Given the description of an element on the screen output the (x, y) to click on. 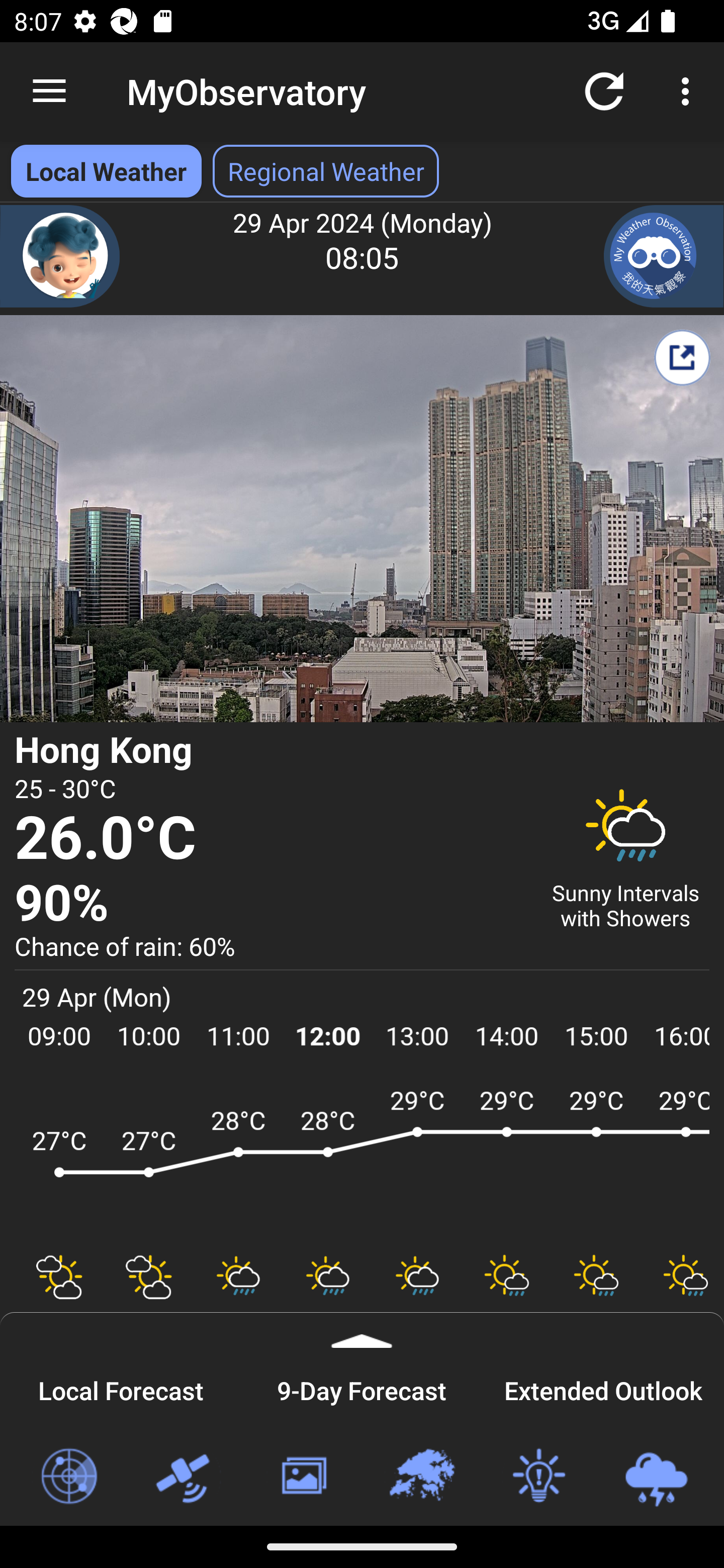
Navigate up (49, 91)
Refresh (604, 90)
More options (688, 90)
Local Weather Local Weather selected (105, 170)
Regional Weather Select Regional Weather (325, 170)
Chatbot (60, 256)
My Weather Observation (663, 256)
Share My Weather Report (681, 357)
26.0°C Temperature
26.0 degree Celsius (270, 839)
90% Relative Humidity
90 percent (270, 903)
ARWF (361, 1160)
Expand (362, 1330)
Local Forecast (120, 1387)
Extended Outlook (603, 1387)
Radar Images (68, 1476)
Satellite Images (185, 1476)
Weather Photos (302, 1476)
Regional Weather (420, 1476)
Weather Tips (537, 1476)
Loc-based Rain & Lightning Forecast (655, 1476)
